Given the description of an element on the screen output the (x, y) to click on. 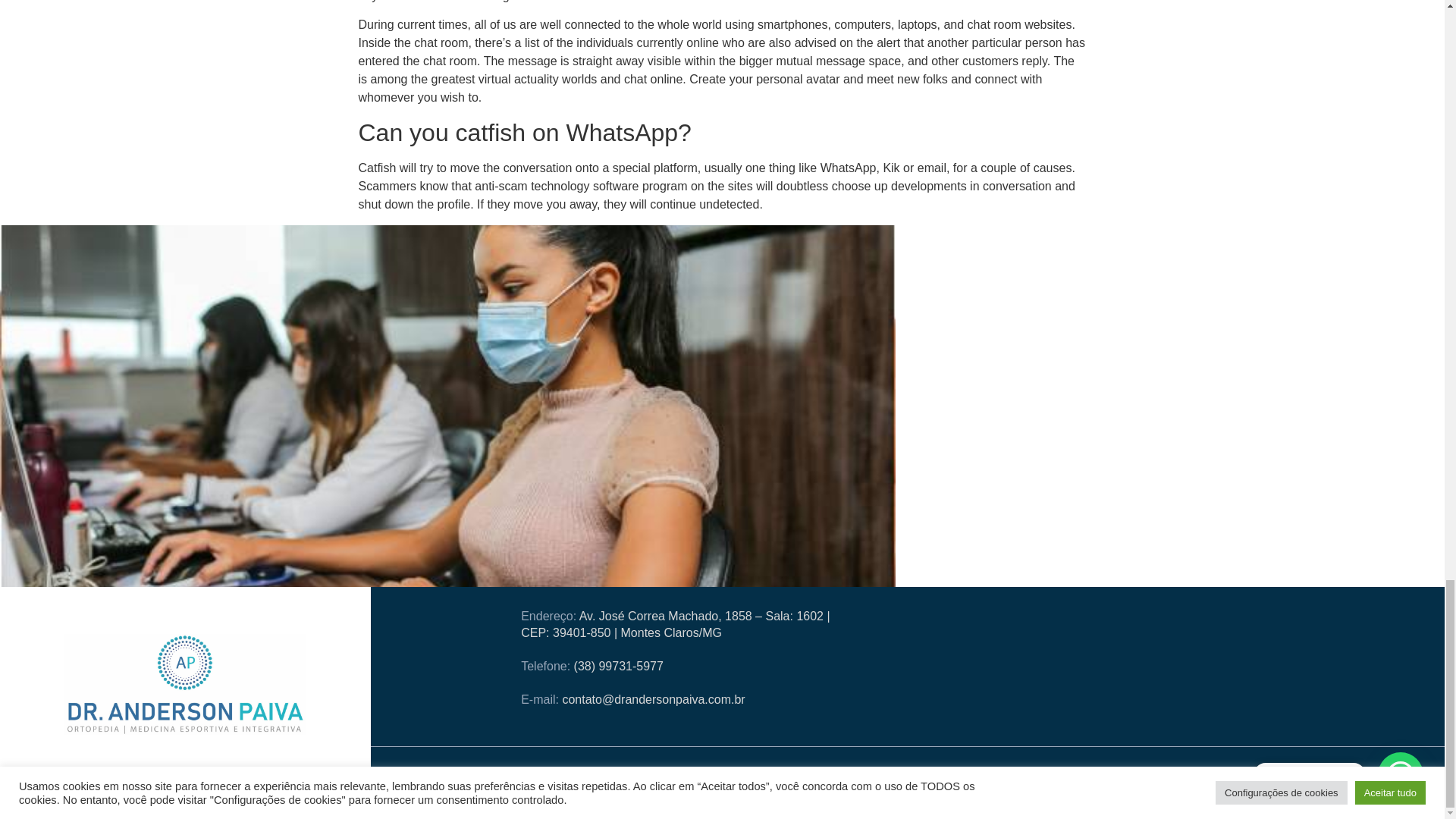
Desenvolvido por Plataforma Multi Digital (604, 810)
